Given the description of an element on the screen output the (x, y) to click on. 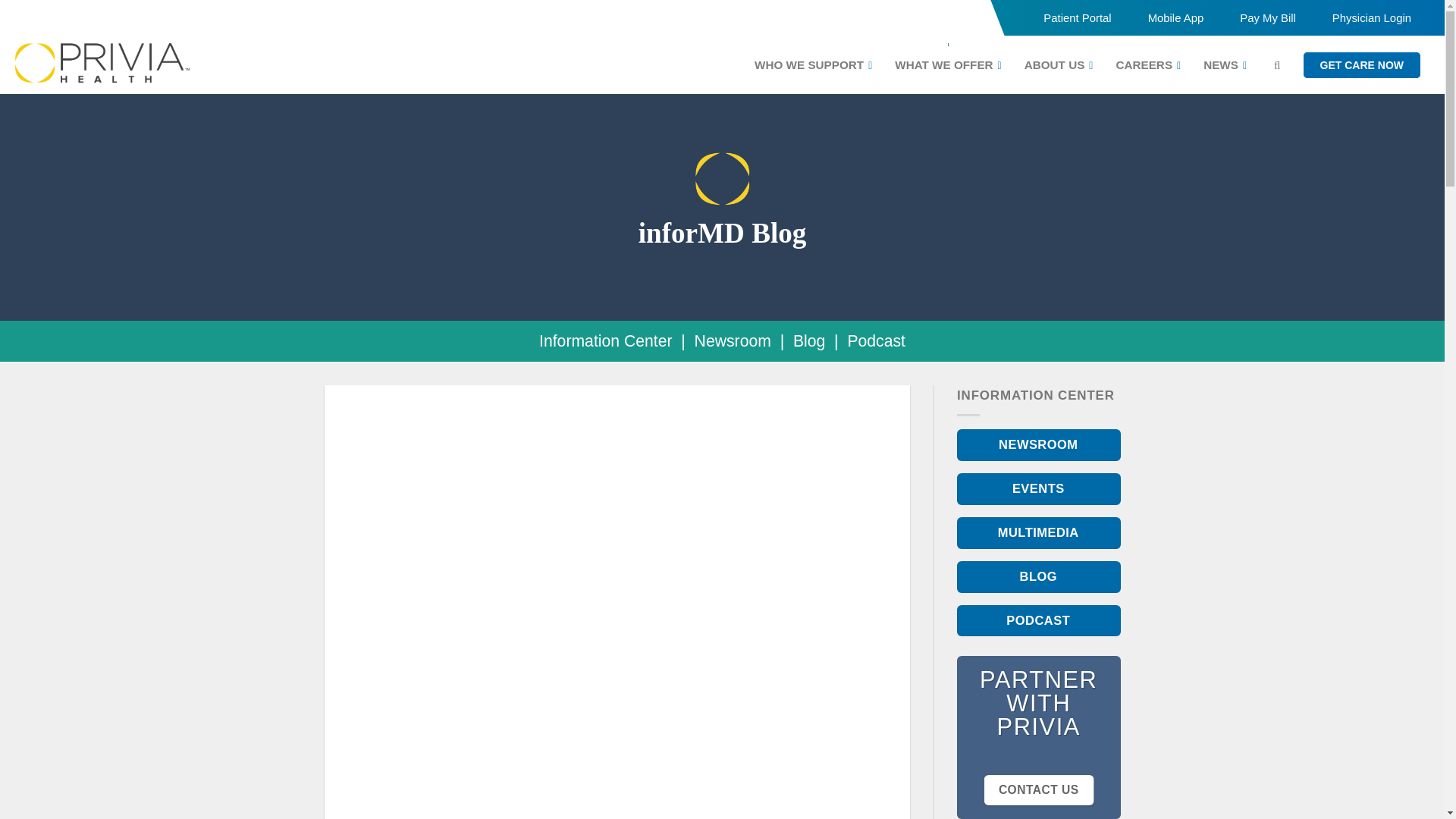
CAREERS (1147, 64)
GET CARE NOW (1362, 65)
WHO WE SUPPORT (813, 64)
NEWS (1225, 64)
Physician Login (1367, 18)
ABOUT US (1059, 64)
Mobile App (1176, 18)
Pay My Bill (1263, 18)
WHAT WE OFFER (948, 64)
Patient Portal (1076, 18)
